Given the description of an element on the screen output the (x, y) to click on. 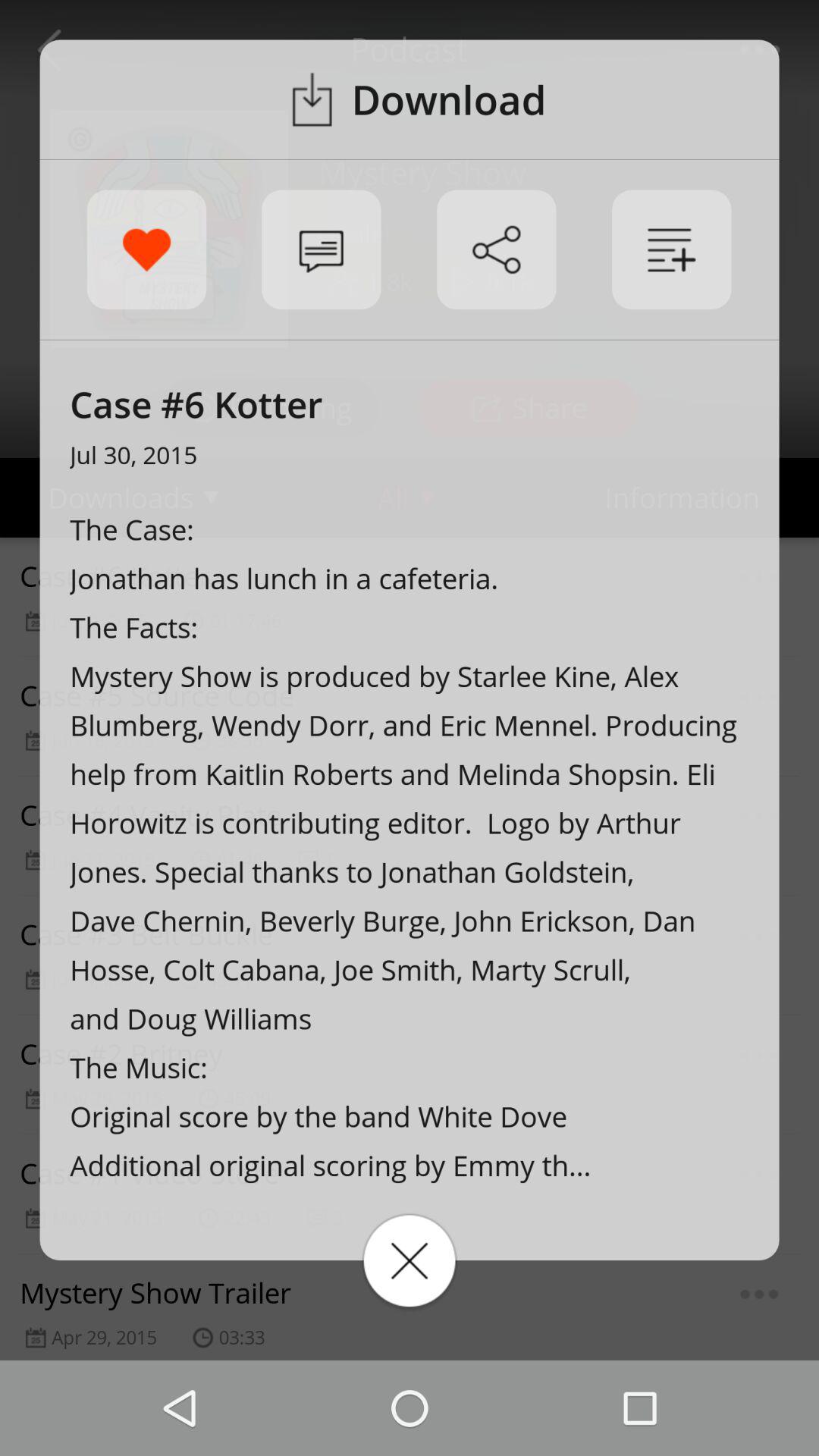
add a case (671, 249)
